Given the description of an element on the screen output the (x, y) to click on. 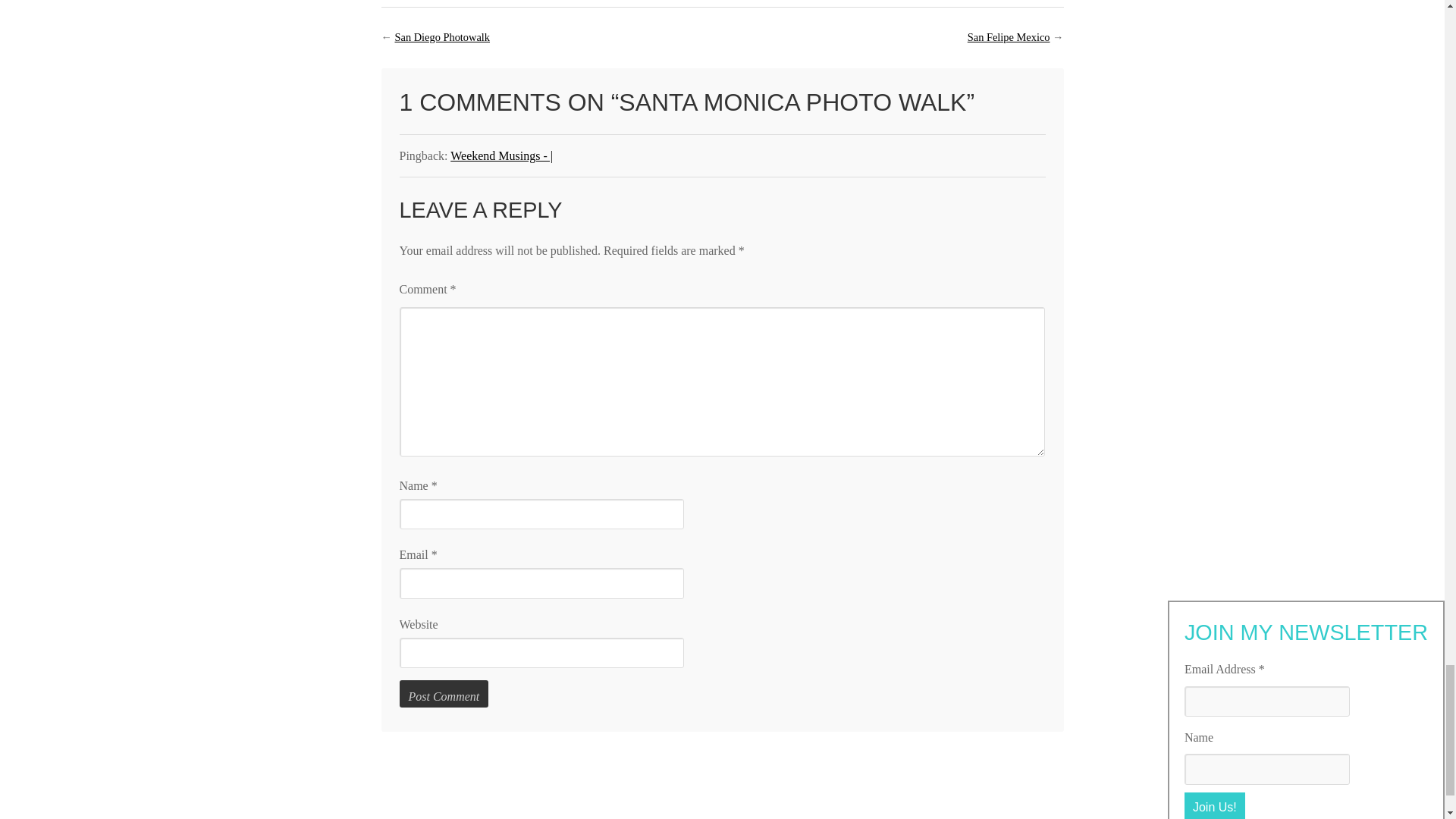
San Diego Photowalk (441, 37)
San Felipe Mexico (1008, 37)
Post Comment (442, 693)
Post Comment (442, 693)
